Given the description of an element on the screen output the (x, y) to click on. 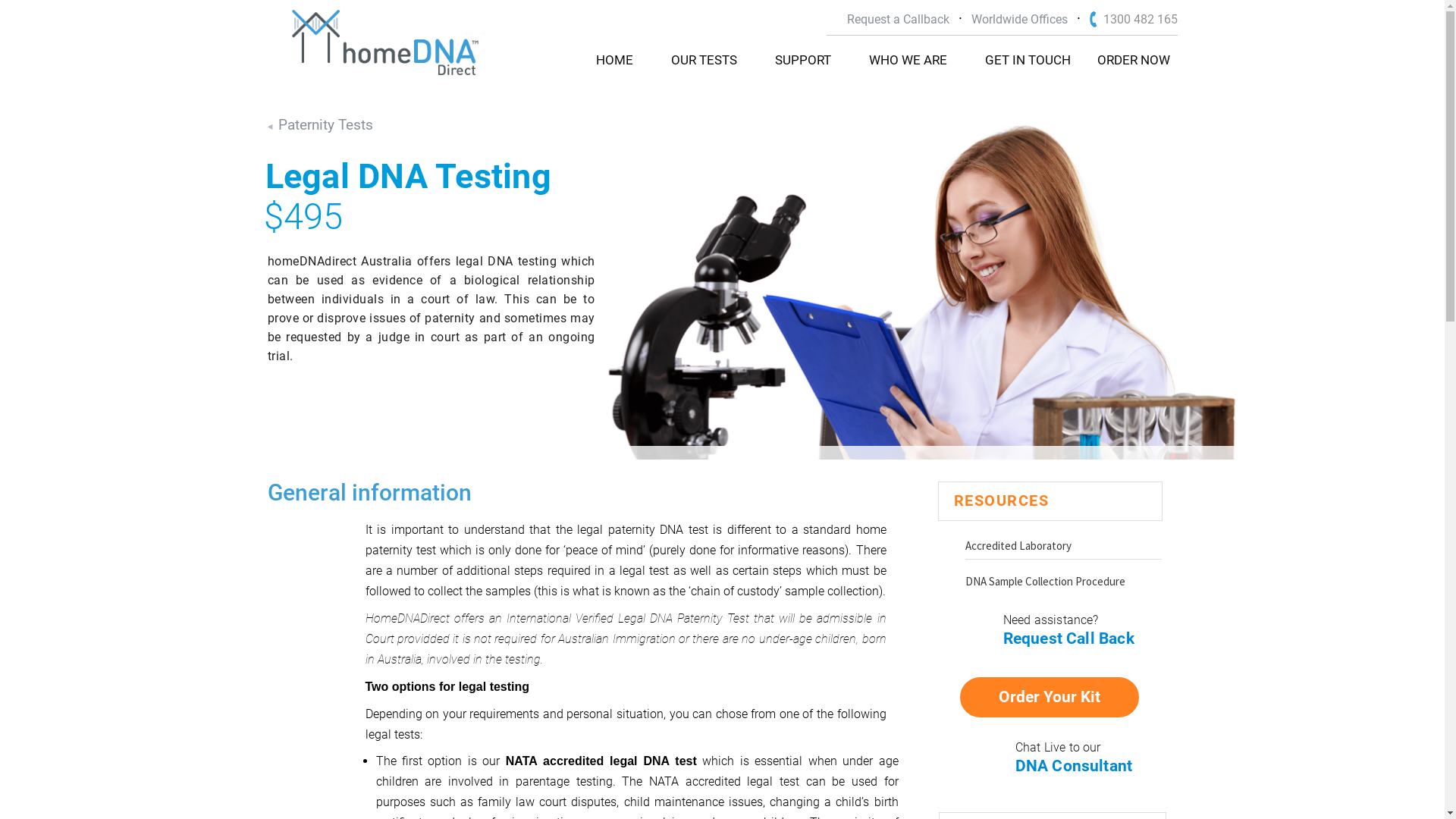
Order Your Kit Element type: text (1049, 697)
Chat Live to our
DNA Consultant Element type: text (1073, 764)
HOME Element type: text (614, 60)
OUR TESTS Element type: text (702, 60)
WHO WE ARE Element type: text (907, 60)
GET IN TOUCH Element type: text (1026, 60)
Paternity Tests Element type: text (319, 124)
SUPPORT Element type: text (802, 60)
1300 482 165 Element type: text (1132, 19)
Worldwide Offices Element type: text (1018, 19)
ORDER NOW Element type: text (1132, 60)
Need assistance?
Request Call Back Element type: text (1054, 636)
Accredited Laboratory Element type: text (1062, 548)
DNA Sample Collection Procedure Element type: text (1062, 584)
Request a Callback Element type: text (897, 19)
